Given the description of an element on the screen output the (x, y) to click on. 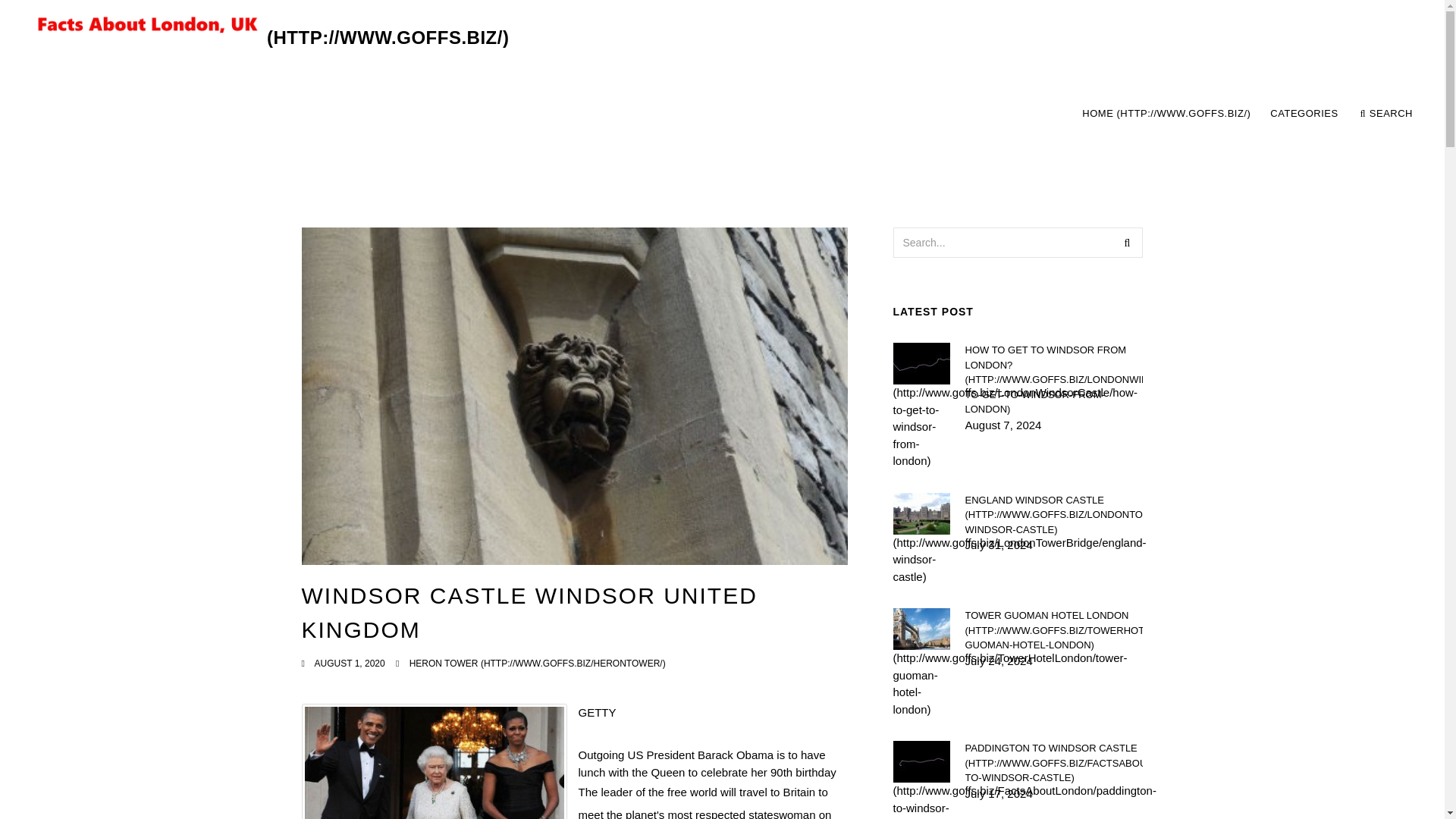
HOME (1166, 113)
Search (1126, 242)
PADDINGTON TO WINDSOR CASTLE (1052, 763)
TOWER GUOMAN HOTEL LONDON (1052, 630)
SEARCH (1386, 113)
HOW TO GET TO WINDSOR FROM LONDON? (1052, 379)
ENGLAND WINDSOR CASTLE (1052, 515)
CATEGORIES (1246, 113)
HERON TOWER (1304, 113)
